Given the description of an element on the screen output the (x, y) to click on. 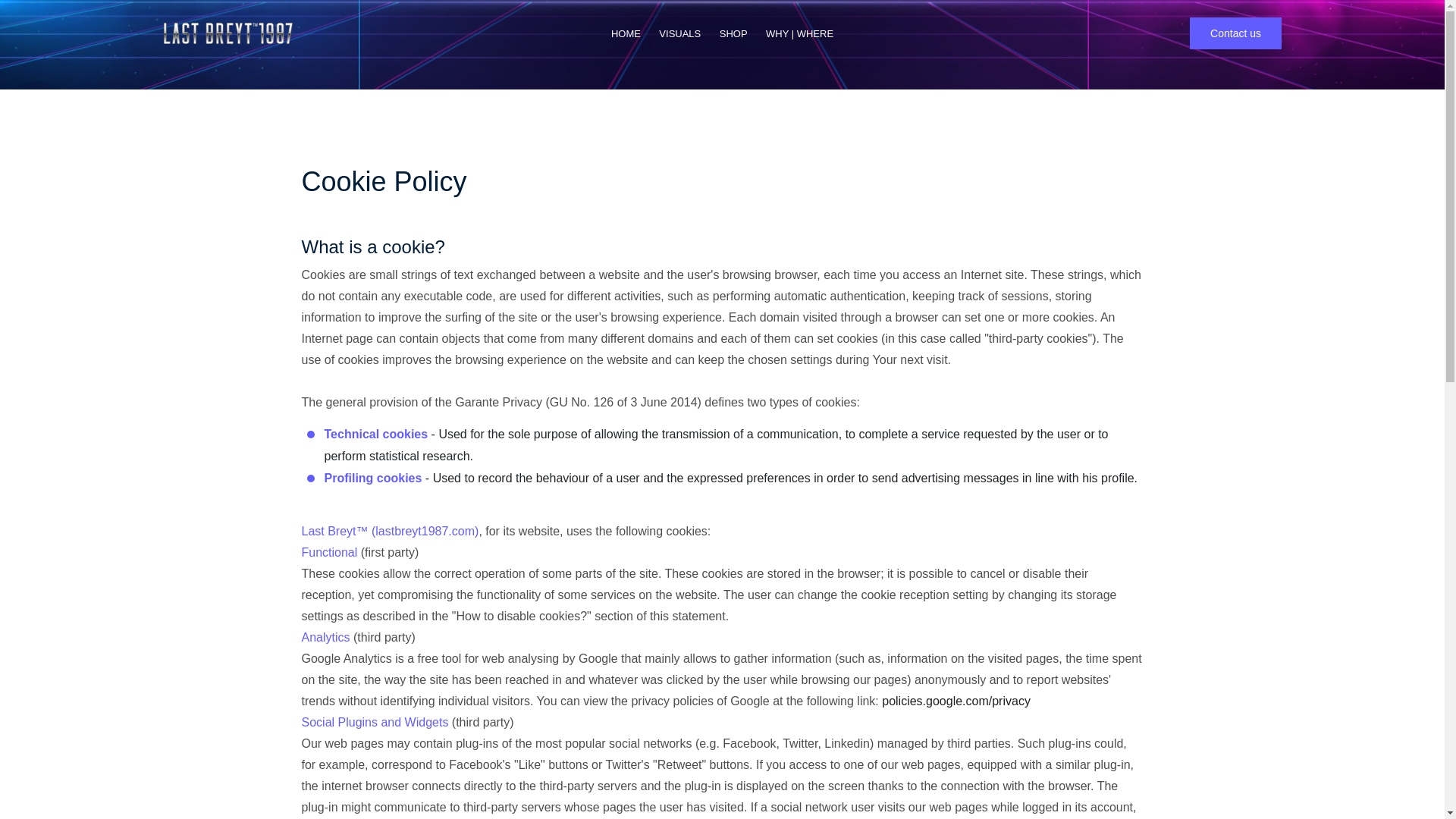
SHOP (733, 33)
Shop Last Breyt 1987 (733, 33)
VISUALS (679, 33)
HOME (625, 33)
Why Last Breyt 1987 and Where (798, 33)
Contact us (1235, 33)
Synthwave Outrun Retrowave Design (679, 33)
Homepage (625, 33)
